Given the description of an element on the screen output the (x, y) to click on. 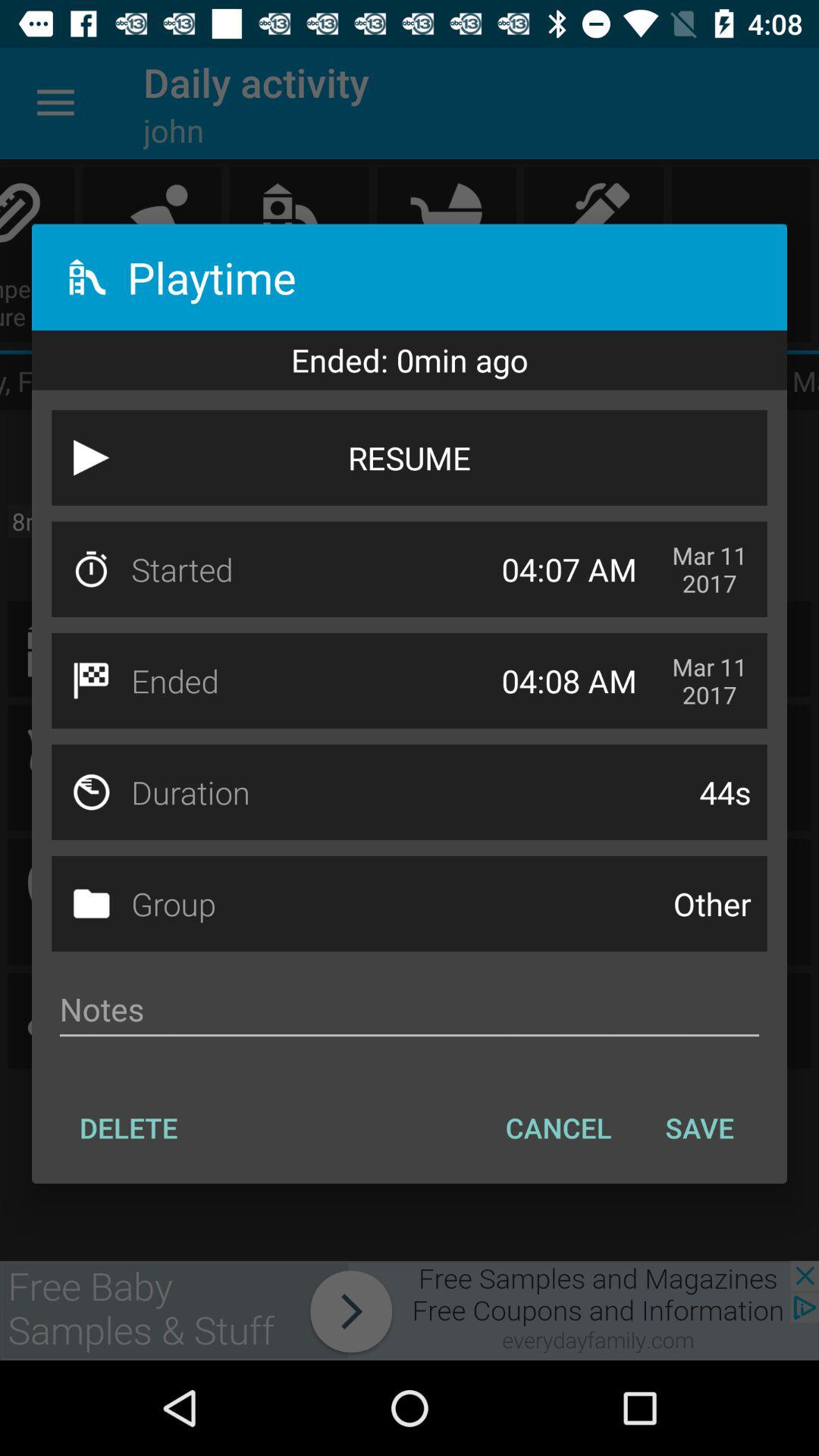
choose the icon below group (409, 1009)
